Given the description of an element on the screen output the (x, y) to click on. 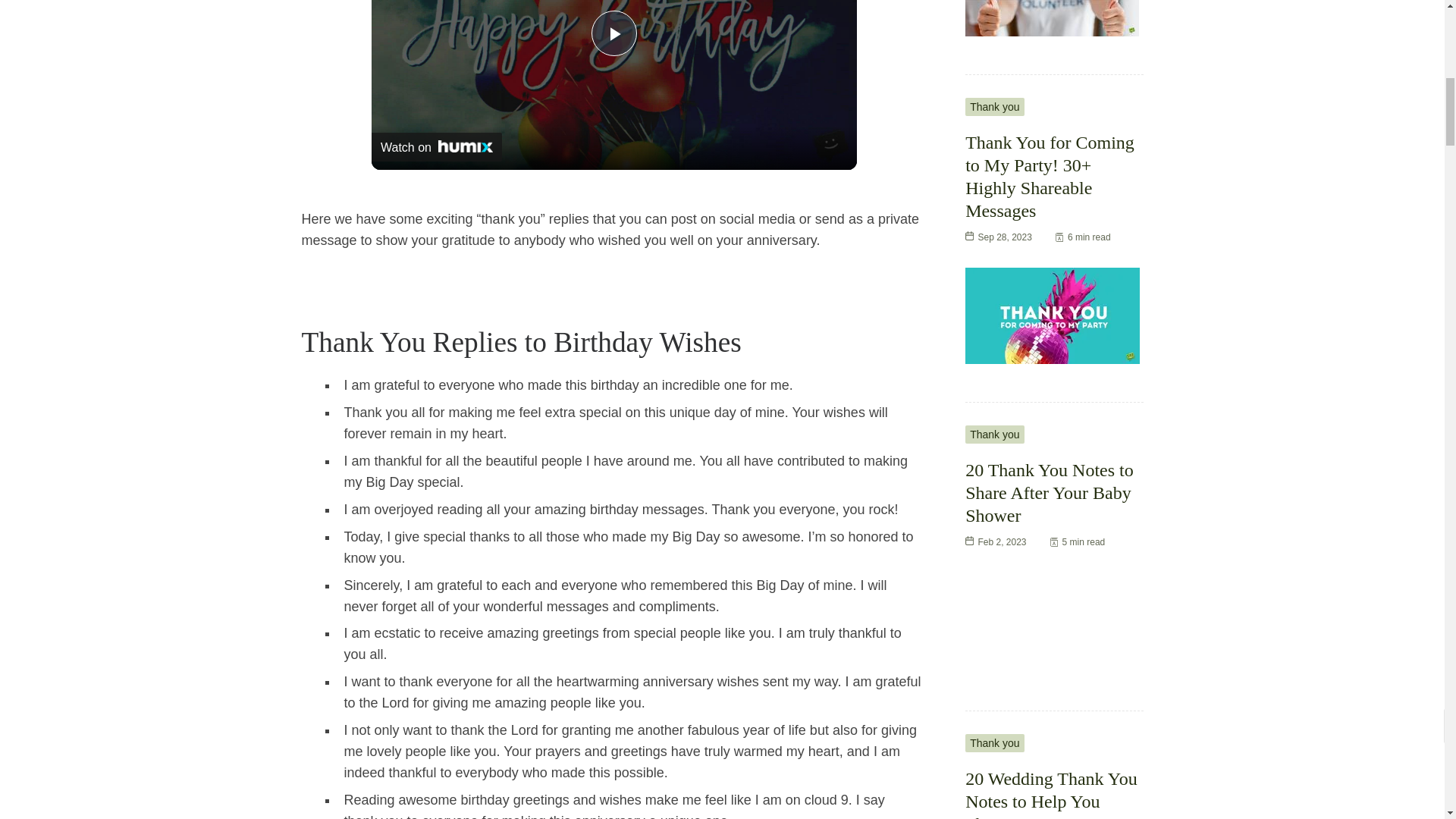
Play Video (614, 33)
Play Video (614, 33)
